Given the description of an element on the screen output the (x, y) to click on. 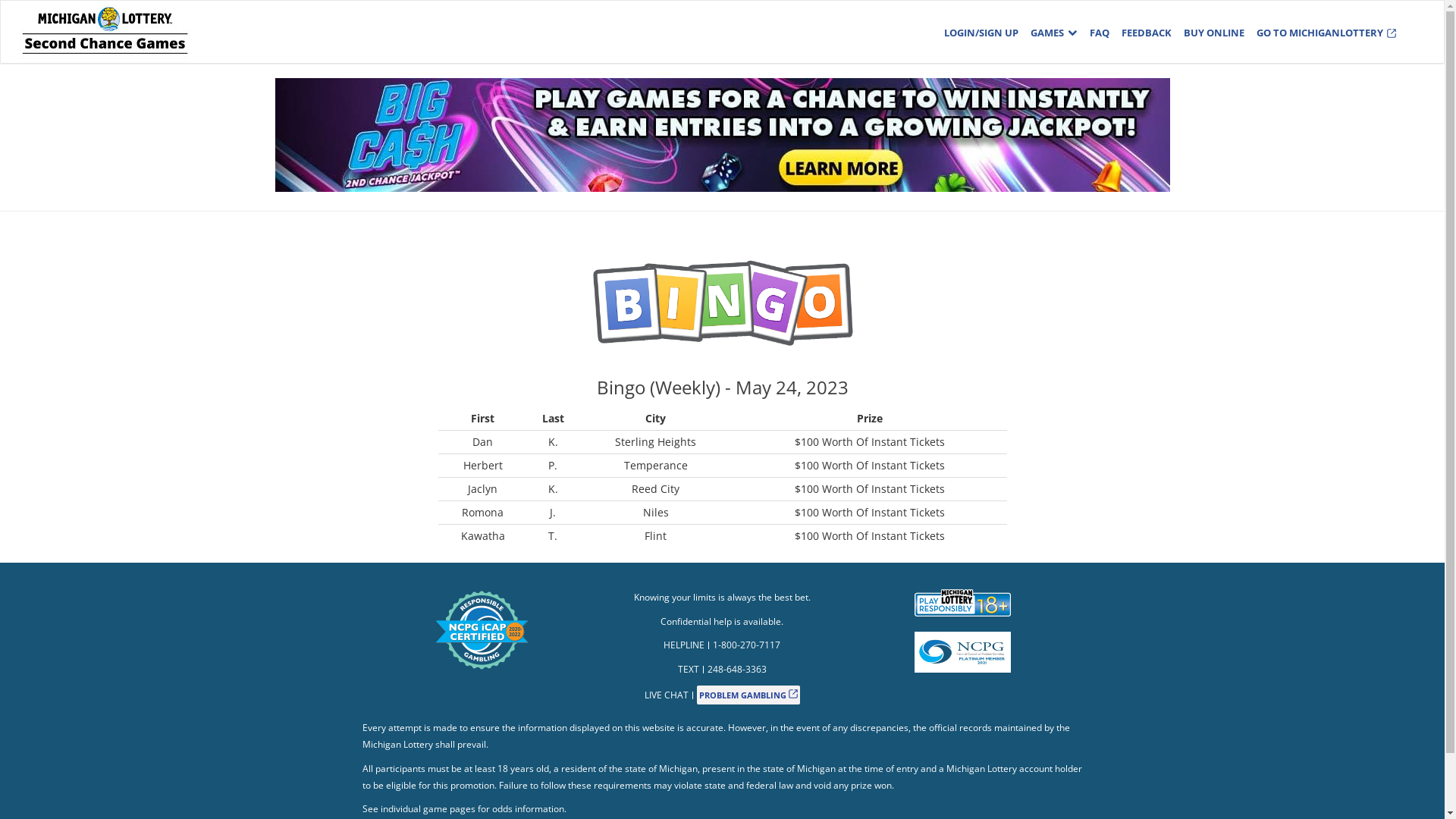
PROBLEM GAMBLING Element type: text (748, 695)
BUY ONLINE Element type: text (1213, 32)
LOGIN/SIGN UP Element type: text (981, 32)
FEEDBACK Element type: text (1146, 32)
FAQ Element type: text (1099, 32)
GAMES Element type: text (1053, 32)
GO TO MICHIGANLOTTERY Element type: text (1325, 32)
